Given the description of an element on the screen output the (x, y) to click on. 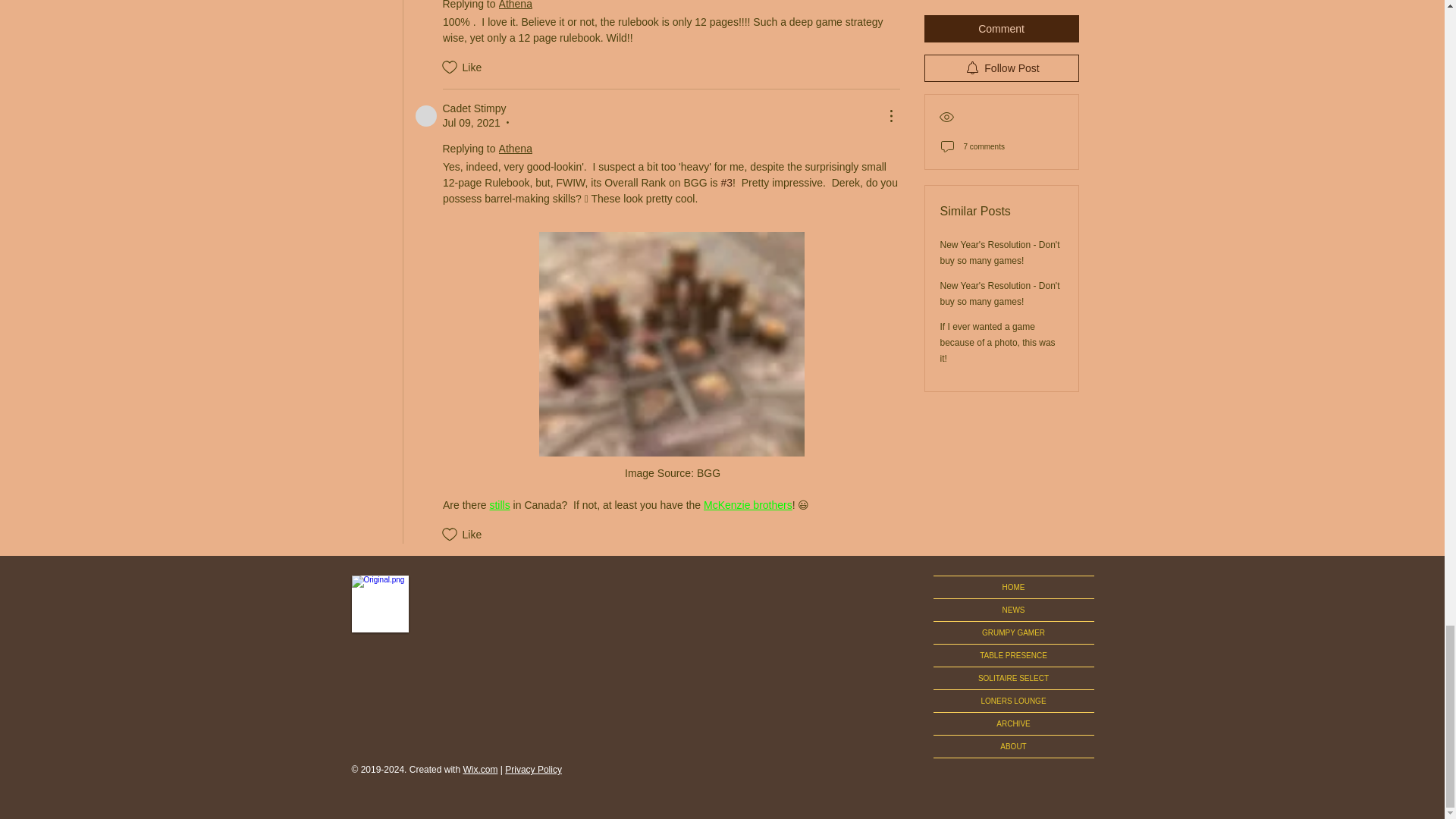
Cadet Stimpy (425, 115)
Solitaire Times - solo board game news (380, 603)
